Given the description of an element on the screen output the (x, y) to click on. 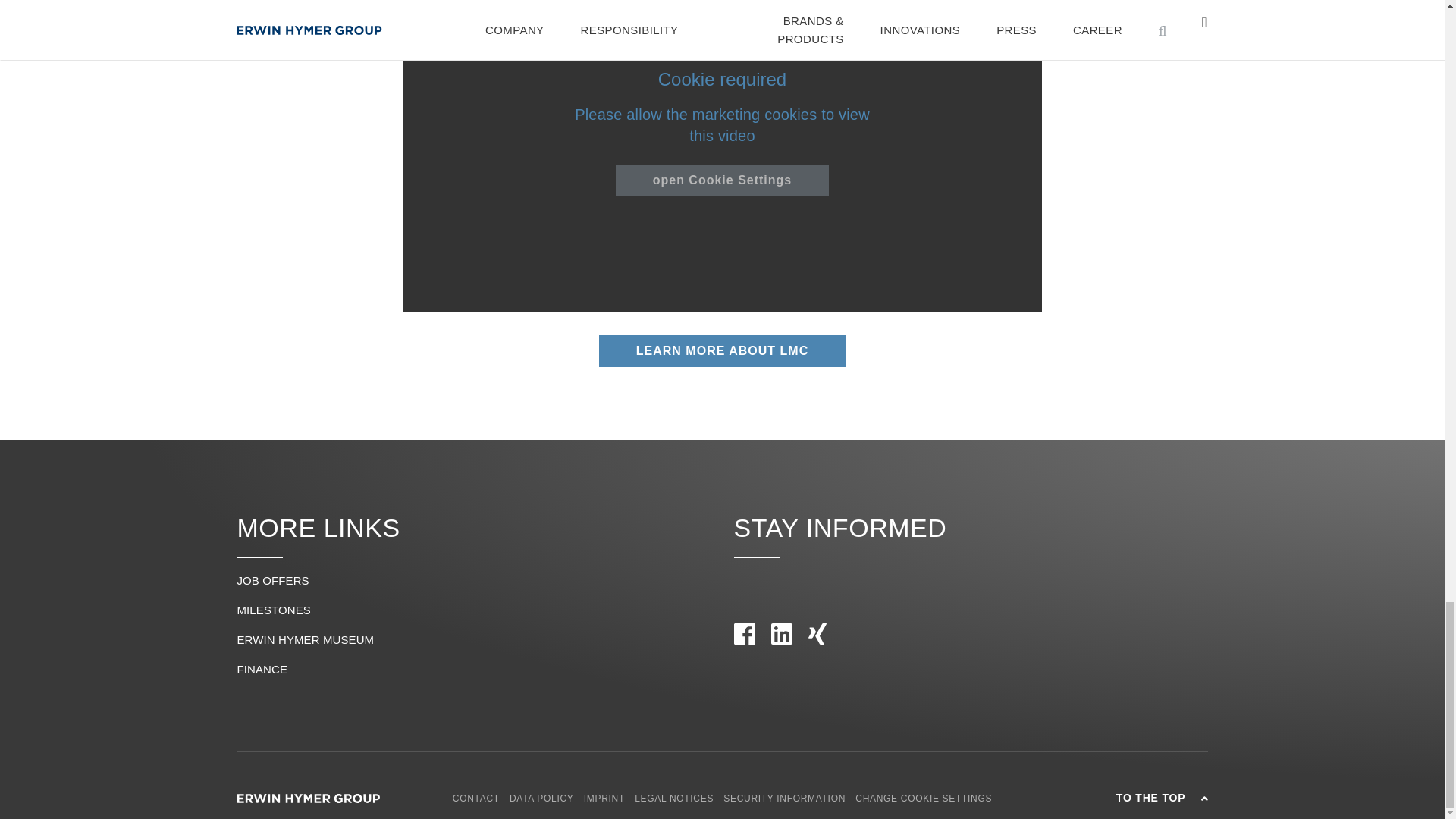
TO THE TOP (1135, 797)
Job offers (271, 580)
Milestones (272, 609)
